Given the description of an element on the screen output the (x, y) to click on. 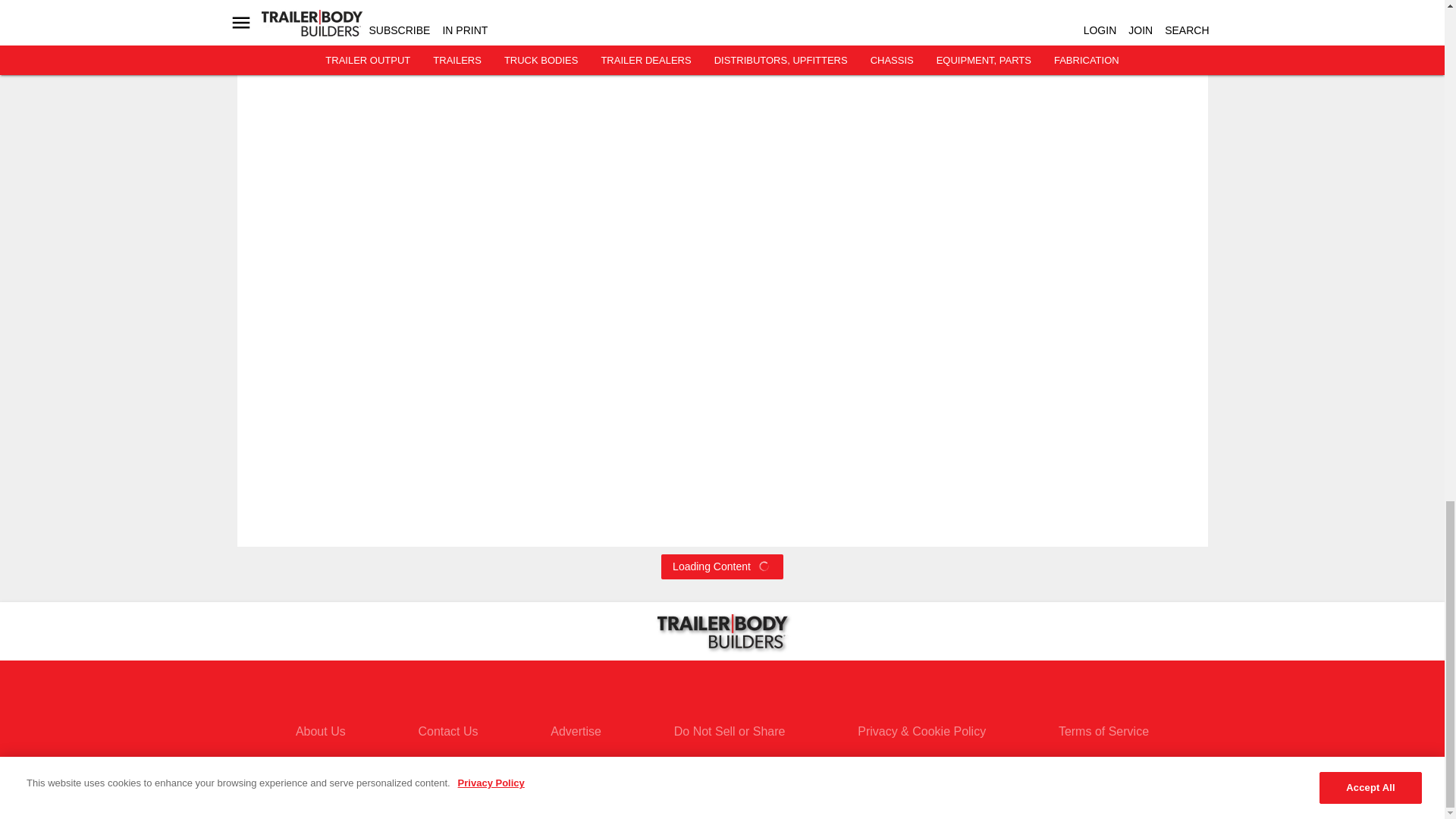
Image (307, 19)
